Given the description of an element on the screen output the (x, y) to click on. 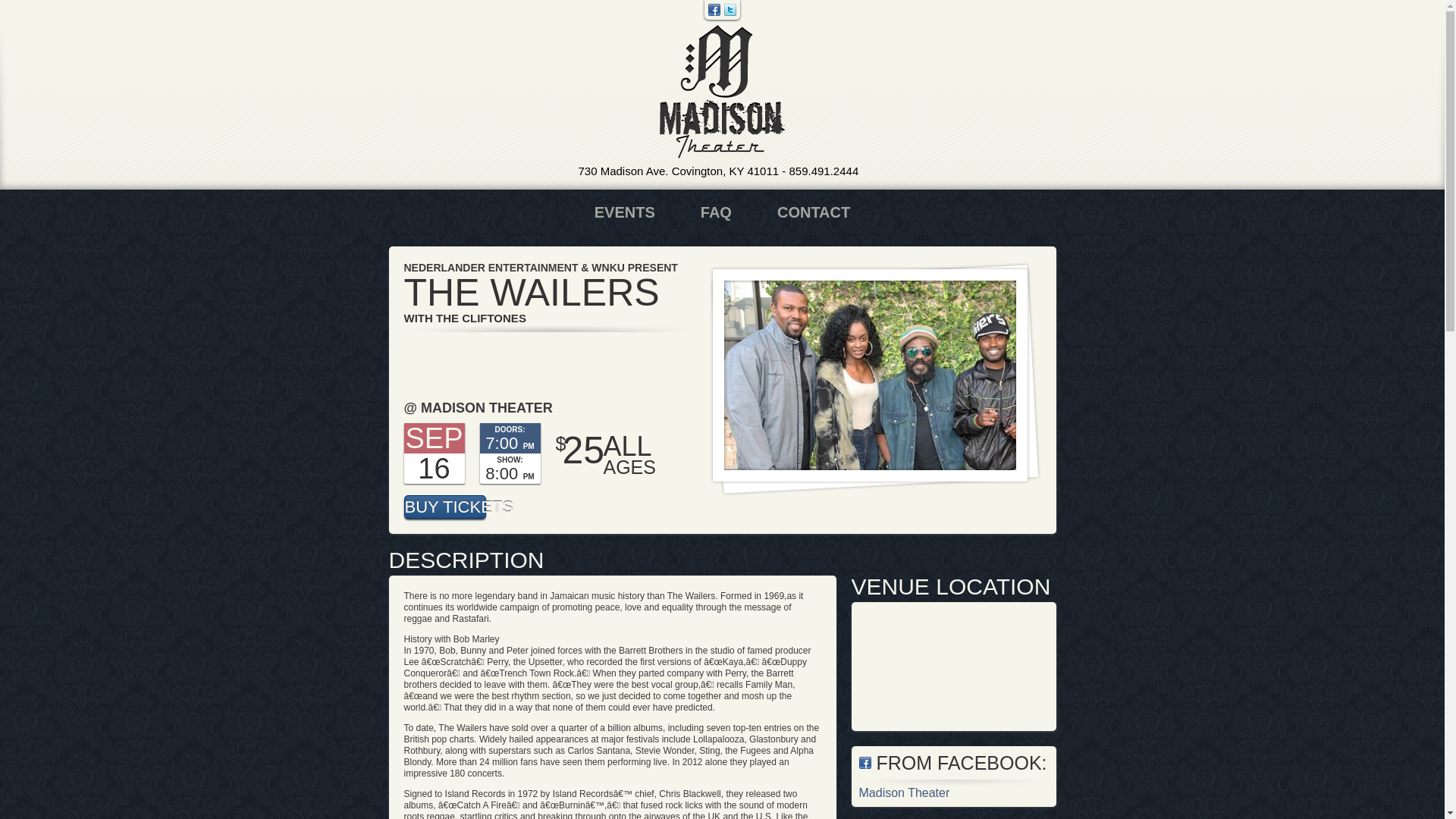
Twitter (729, 9)
730 Madison Ave. Covington, KY 41011 (678, 170)
Madison Theater (904, 792)
EVENTS (624, 211)
CONTACT (812, 211)
Facebook (713, 9)
FAQ (715, 211)
Madison Theater (721, 91)
BUY TICKETS (443, 506)
859.491.2444 (824, 170)
